Given the description of an element on the screen output the (x, y) to click on. 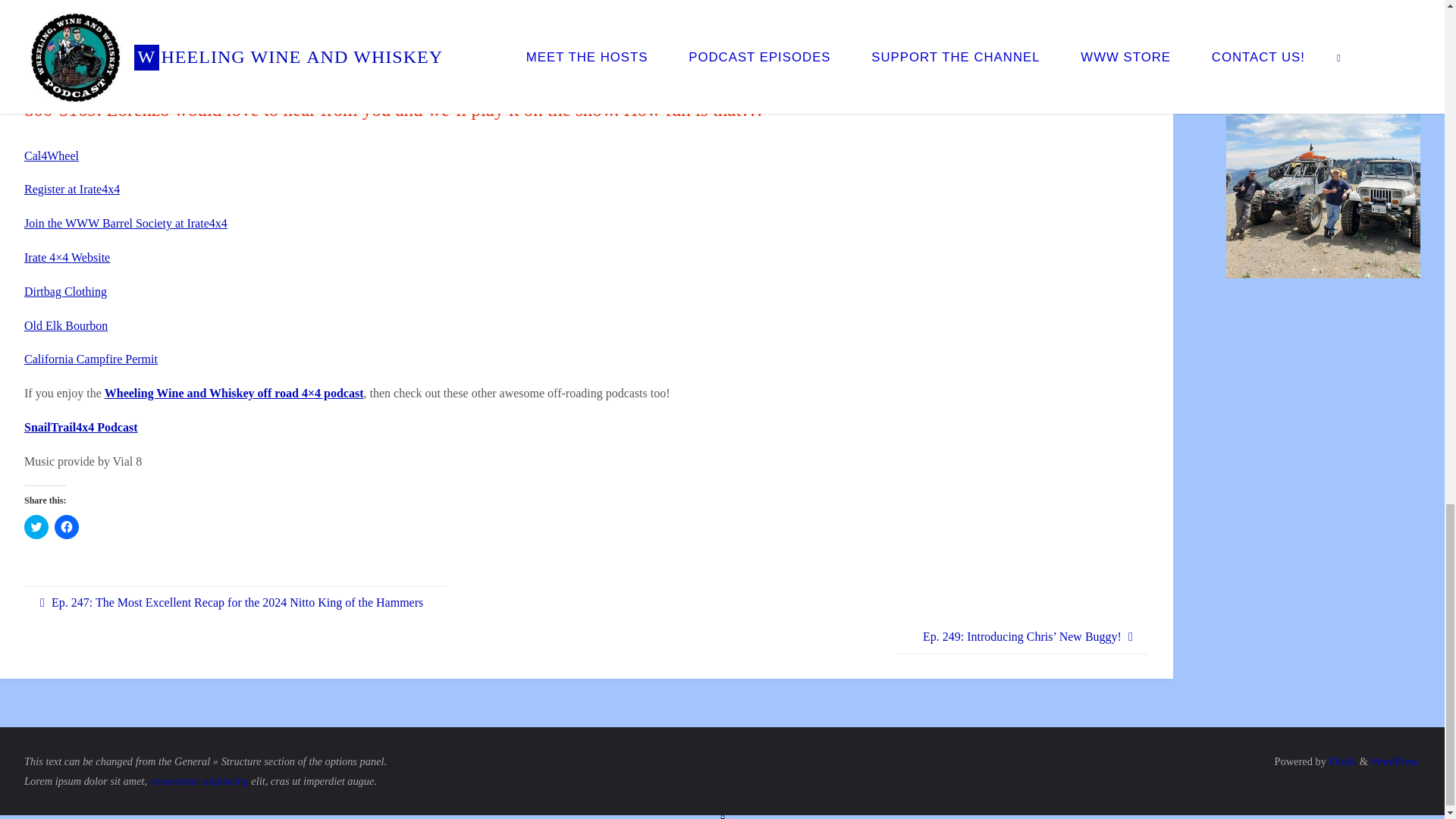
California Campfire Permit (90, 358)
Cal4Wheel (51, 155)
Click to share on Facebook (66, 526)
Old Elk Bourbon (65, 325)
Dirtbag Clothing (65, 291)
Join the WWW Barrel Society at Irate4x4 (125, 223)
Register at Irate4x4 (71, 188)
Click to share on Twitter (36, 526)
SnailTrail4x4 Podcast (81, 427)
